Given the description of an element on the screen output the (x, y) to click on. 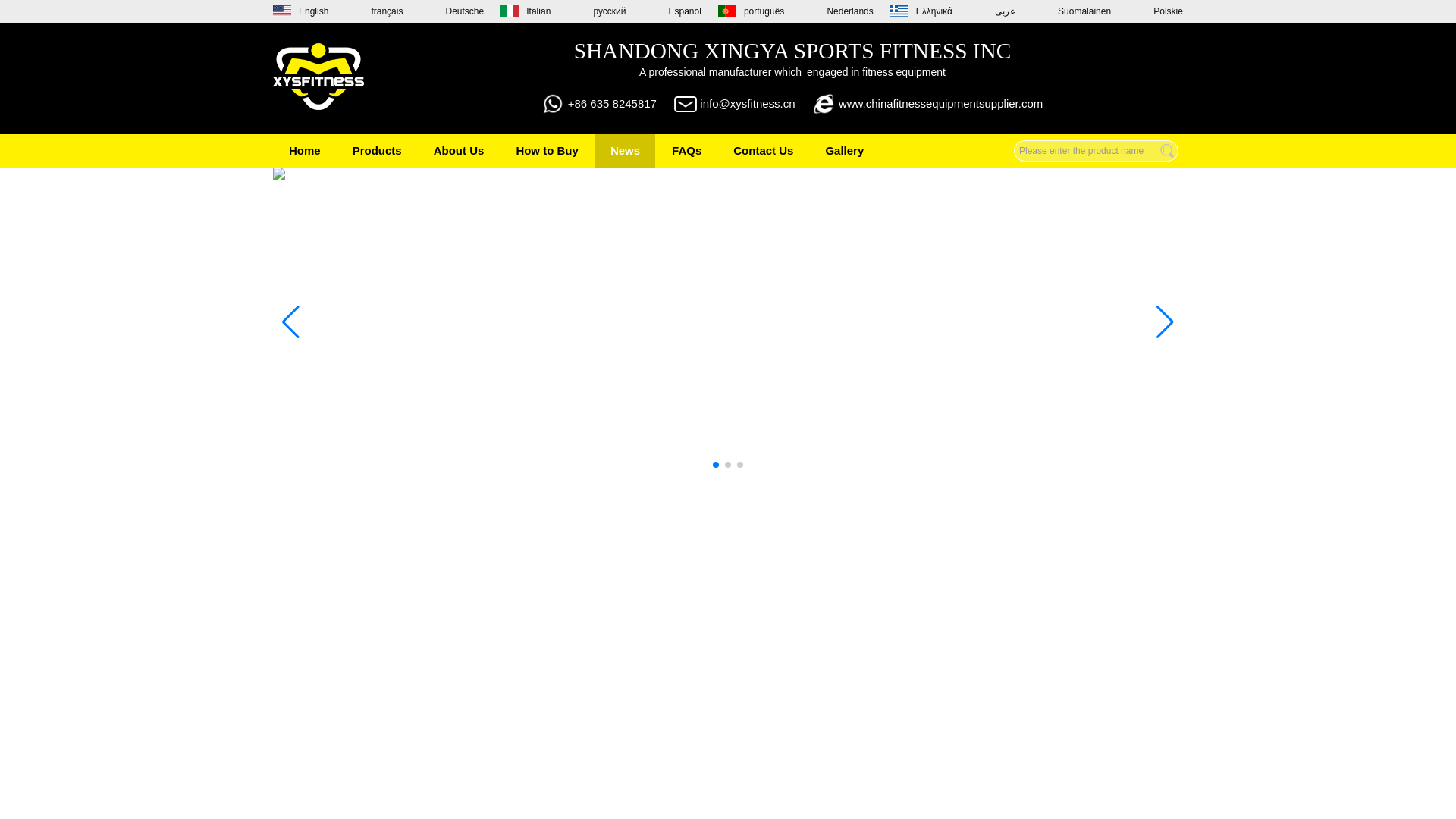
Shandong Xingya Sports Fitness Inc (318, 119)
Deutsche (452, 11)
Polskie (1154, 11)
Suomalainen (1071, 11)
Home (304, 150)
Please enter the product name (1095, 150)
Italian (525, 11)
Nederlands (836, 11)
English (301, 11)
Shandong Xingya Sports Fitness Inc (318, 76)
www.chinafitnessequipmentsupplier.com (940, 103)
Products (376, 150)
